Given the description of an element on the screen output the (x, y) to click on. 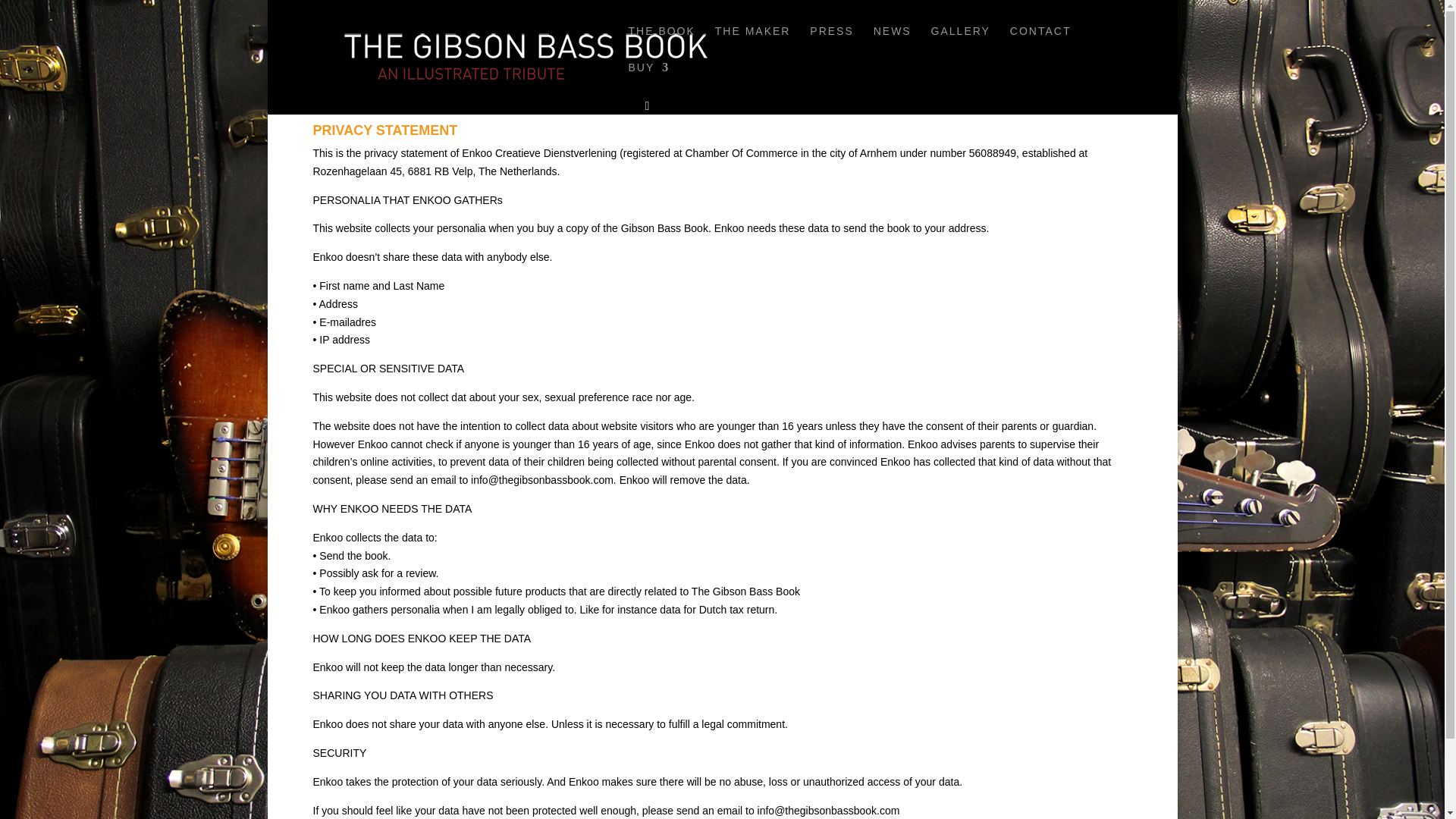
GALLERY (960, 43)
NEWS (892, 43)
PRESS (831, 43)
BUY (648, 80)
THE MAKER (752, 43)
THE BOOK (660, 43)
CONTACT (1040, 43)
